Given the description of an element on the screen output the (x, y) to click on. 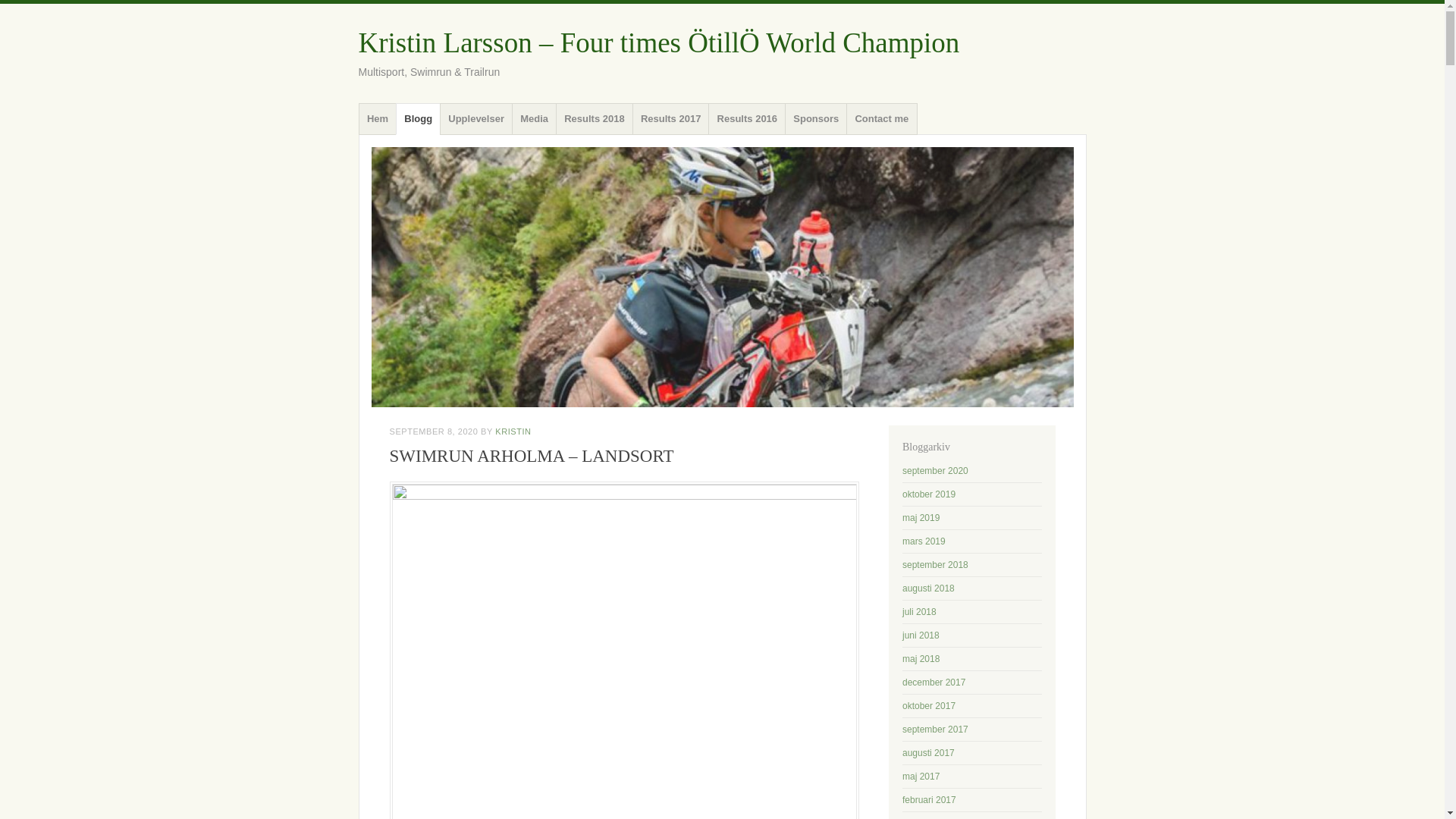
Media (534, 119)
augusti 2017 (928, 752)
augusti 2018 (928, 588)
september 2020 (935, 470)
februari 2017 (929, 799)
maj 2019 (920, 517)
Blogg (418, 119)
september 2017 (935, 728)
juni 2018 (920, 634)
Results 2017 (670, 119)
KRISTIN (513, 430)
Results 2018 (594, 119)
1:04 e m (434, 430)
SEPTEMBER 8, 2020 (434, 430)
september 2018 (935, 564)
